Given the description of an element on the screen output the (x, y) to click on. 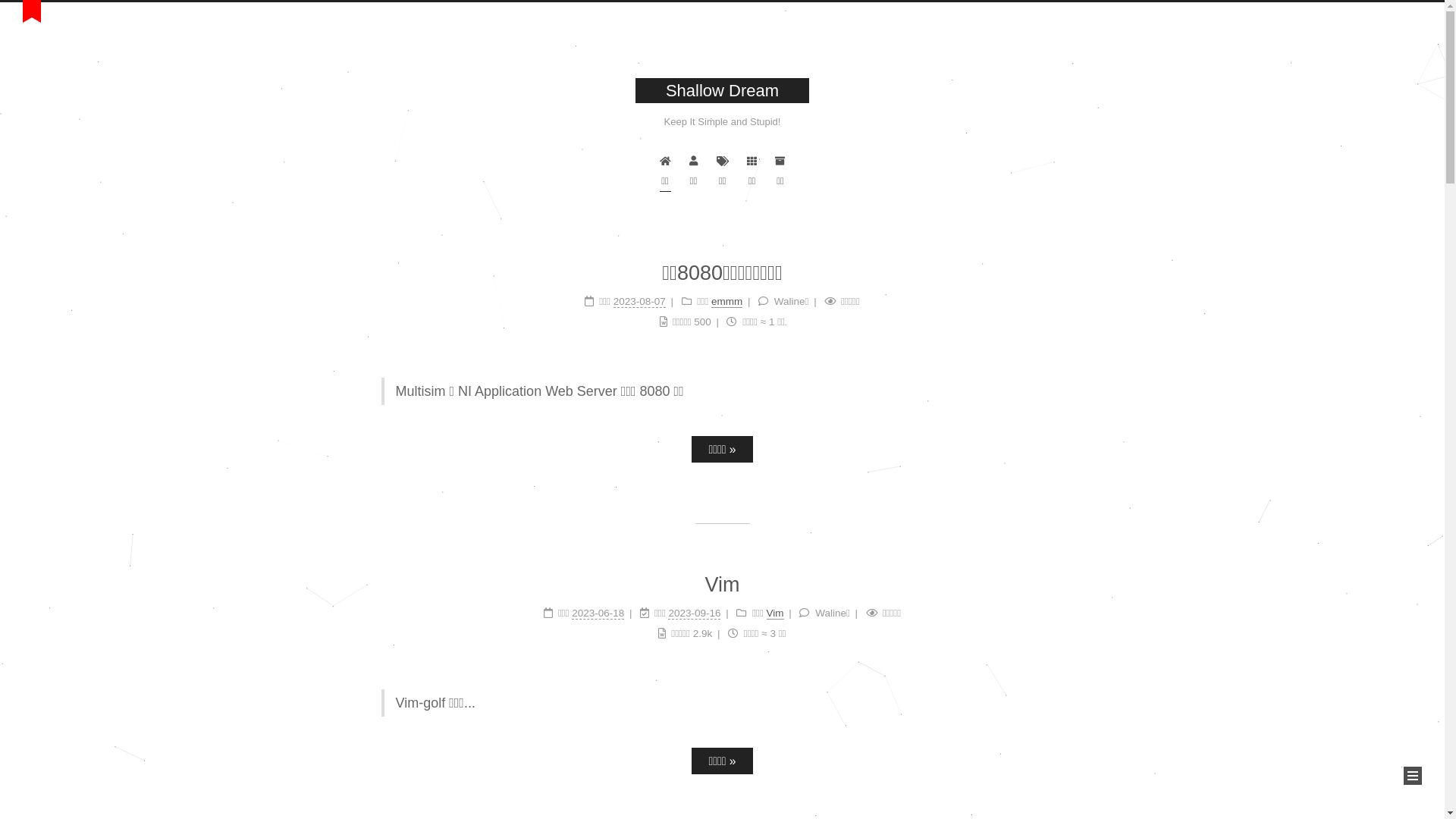
emmm Element type: text (726, 301)
Vim Element type: text (775, 612)
Vim Element type: text (721, 584)
Shallow Dream Element type: text (722, 90)
